Given the description of an element on the screen output the (x, y) to click on. 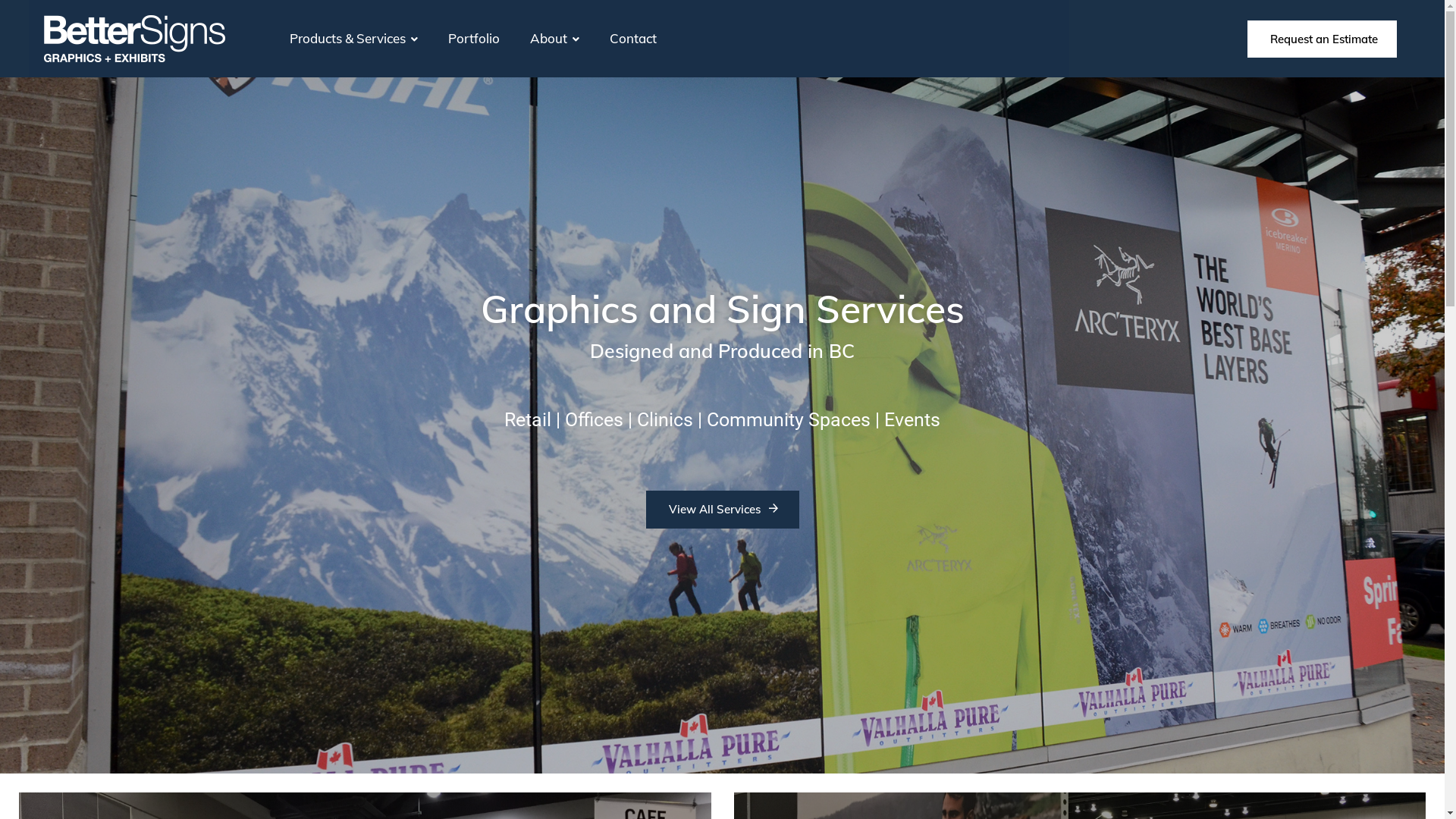
About Element type: text (554, 37)
Products & Services Element type: text (353, 37)
View All Services Element type: text (722, 509)
Request an Estimate Element type: text (1321, 37)
Portfolio Element type: text (473, 37)
Contact Element type: text (633, 37)
